Given the description of an element on the screen output the (x, y) to click on. 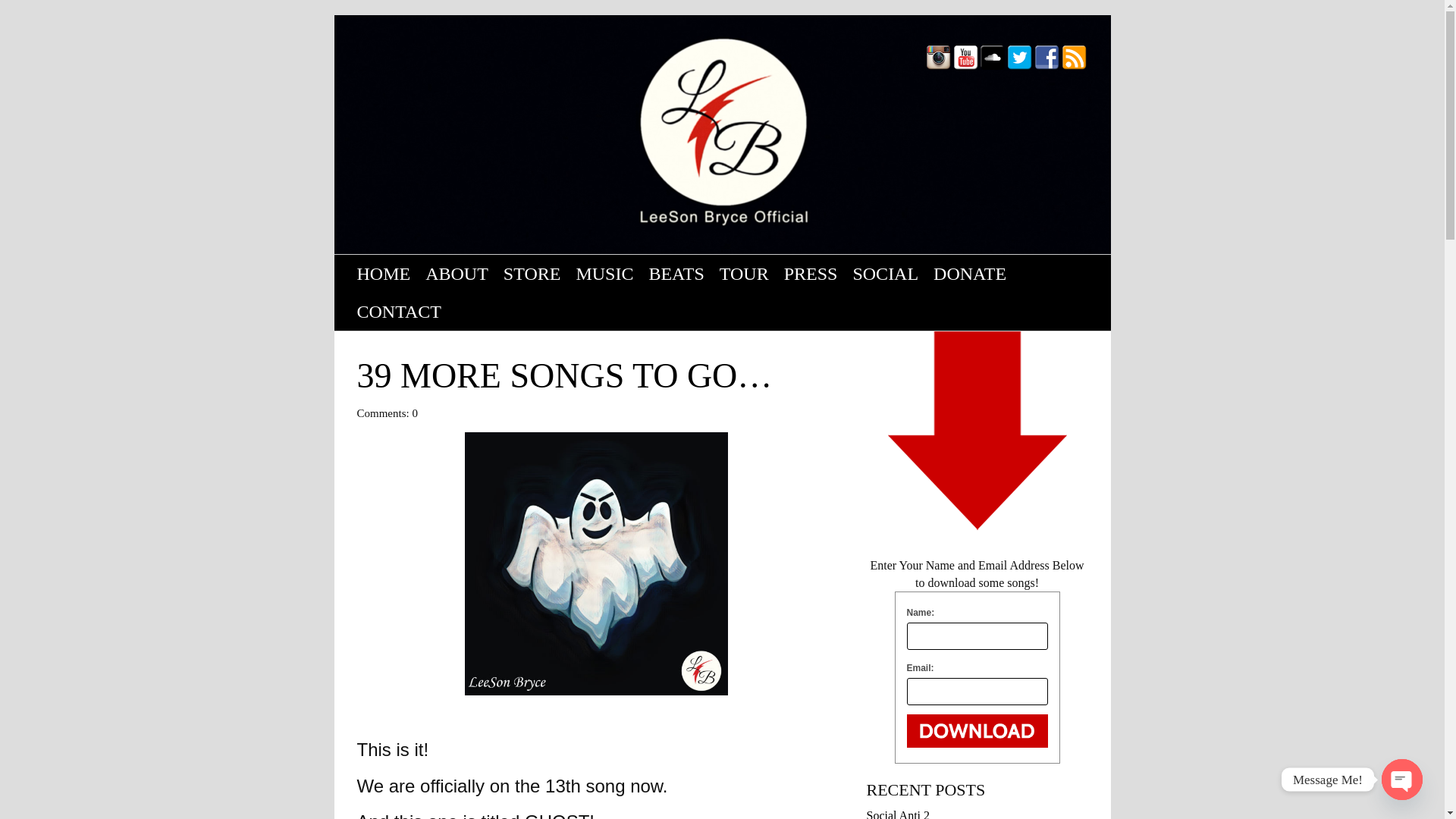
HOME (383, 273)
STORE (532, 273)
TOUR (743, 273)
SOCIAL (885, 273)
Social Anti 2 (898, 814)
DONATE (969, 273)
ABOUT (456, 273)
MUSIC (603, 273)
BEATS (675, 273)
CONTACT (398, 311)
PRESS (810, 273)
